Given the description of an element on the screen output the (x, y) to click on. 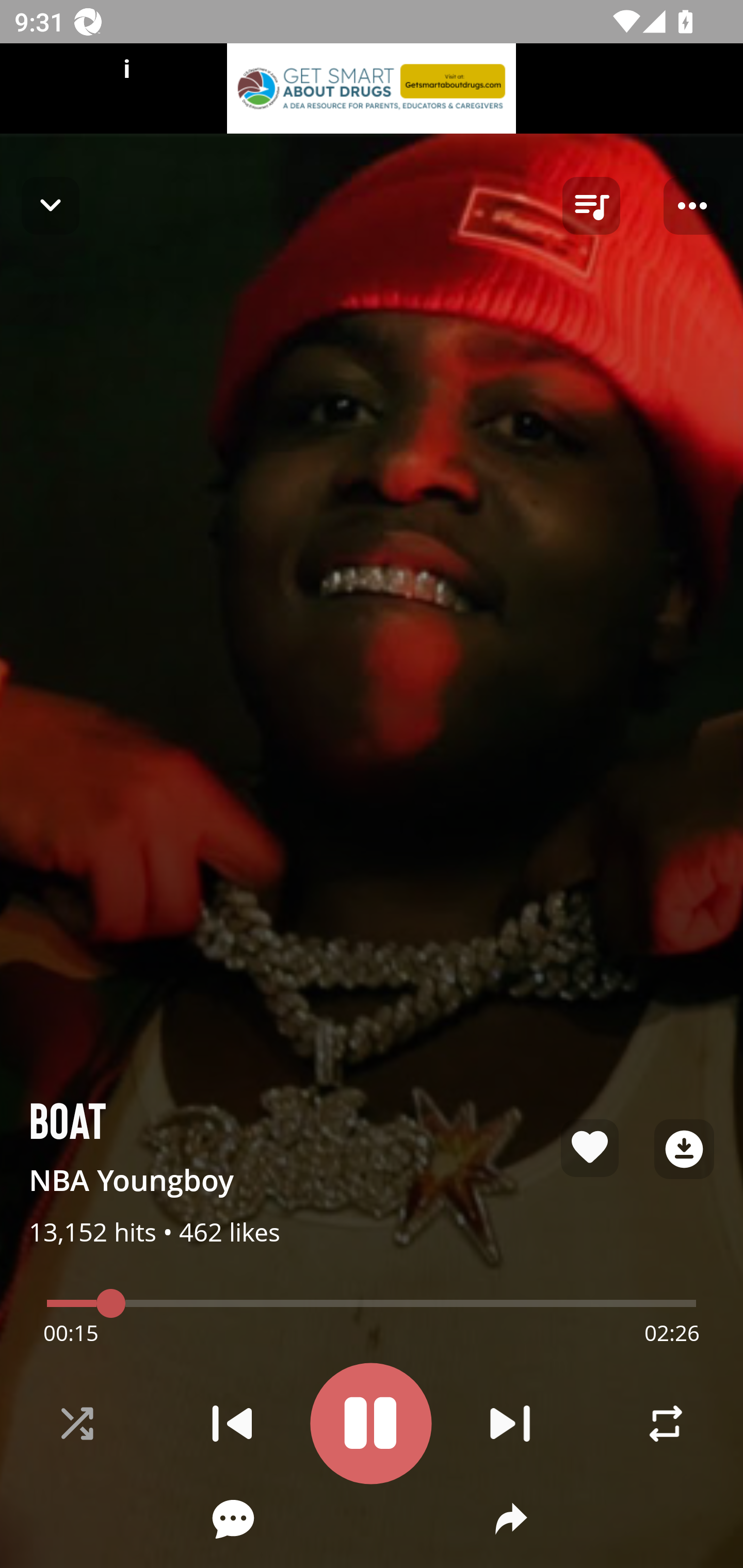
Navigate up (50, 205)
queue (590, 206)
Player options (692, 206)
